Given the description of an element on the screen output the (x, y) to click on. 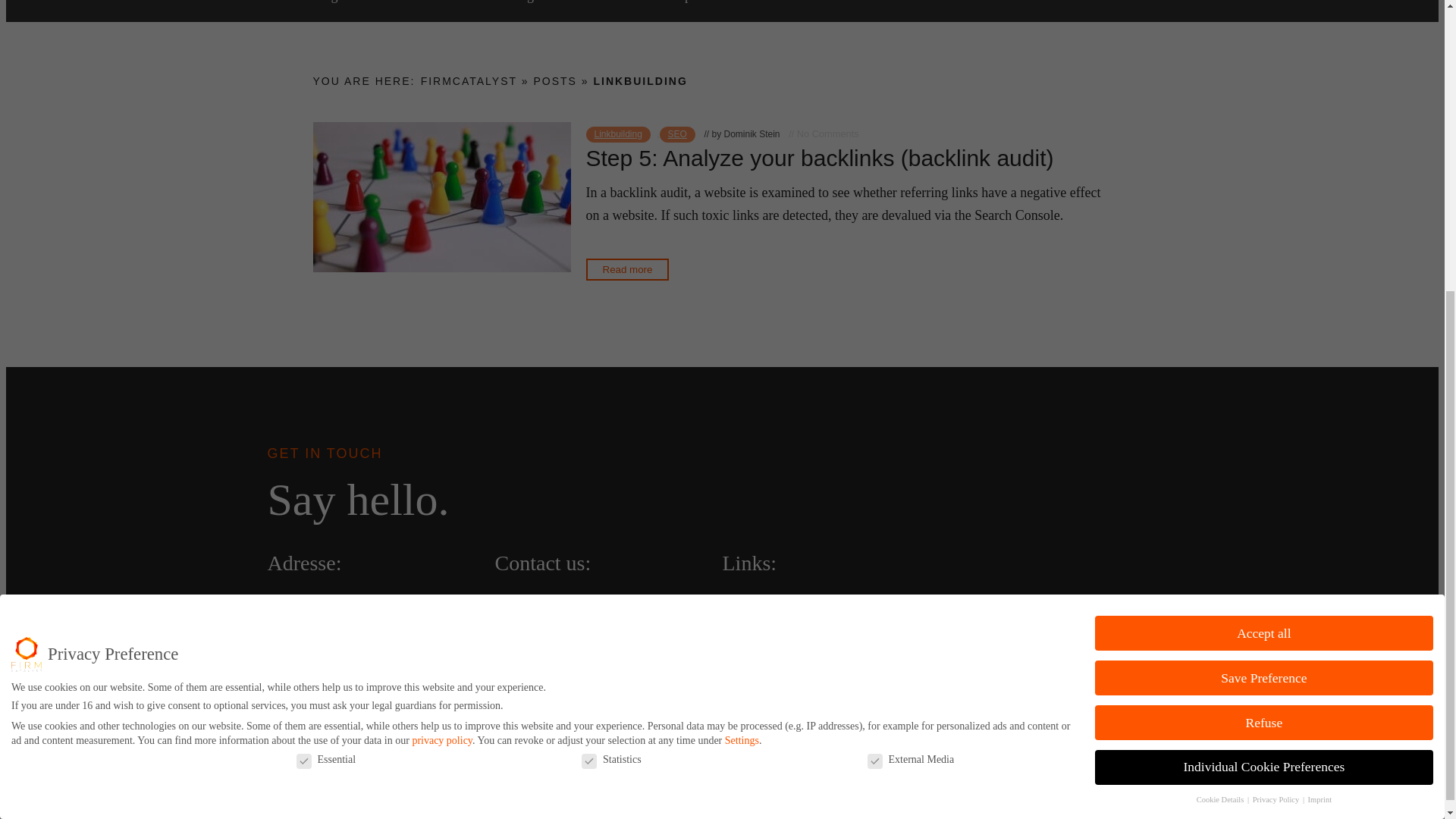
Site Notice (754, 628)
Read more (626, 269)
FIRMCATALYST (468, 80)
SEO (677, 134)
SEO (561, 1)
Linkbuilding (498, 1)
on WhatsApp (535, 605)
privacy policy (441, 287)
Linkbuilding (617, 134)
Blog (735, 605)
